Given the description of an element on the screen output the (x, y) to click on. 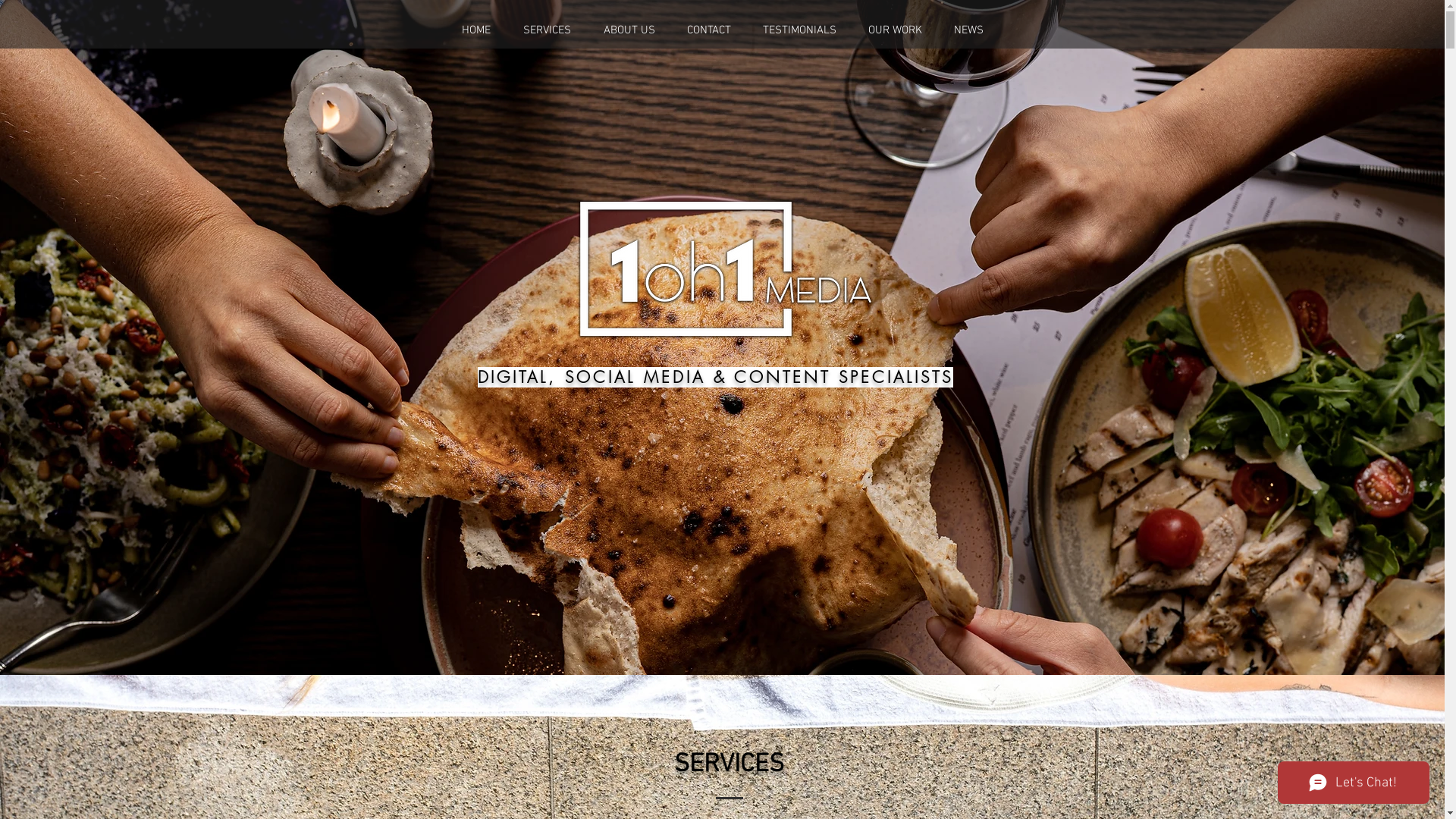
HOME Element type: text (476, 30)
white_forWeb.png Element type: hover (728, 268)
TWIPLA (Visitor Analytics) Element type: hover (220, 209)
OUR WORK Element type: text (895, 30)
SERVICES Element type: text (546, 30)
NEWS Element type: text (967, 30)
TESTIMONIALS Element type: text (798, 30)
ABOUT US Element type: text (628, 30)
CONTACT Element type: text (708, 30)
